Given the description of an element on the screen output the (x, y) to click on. 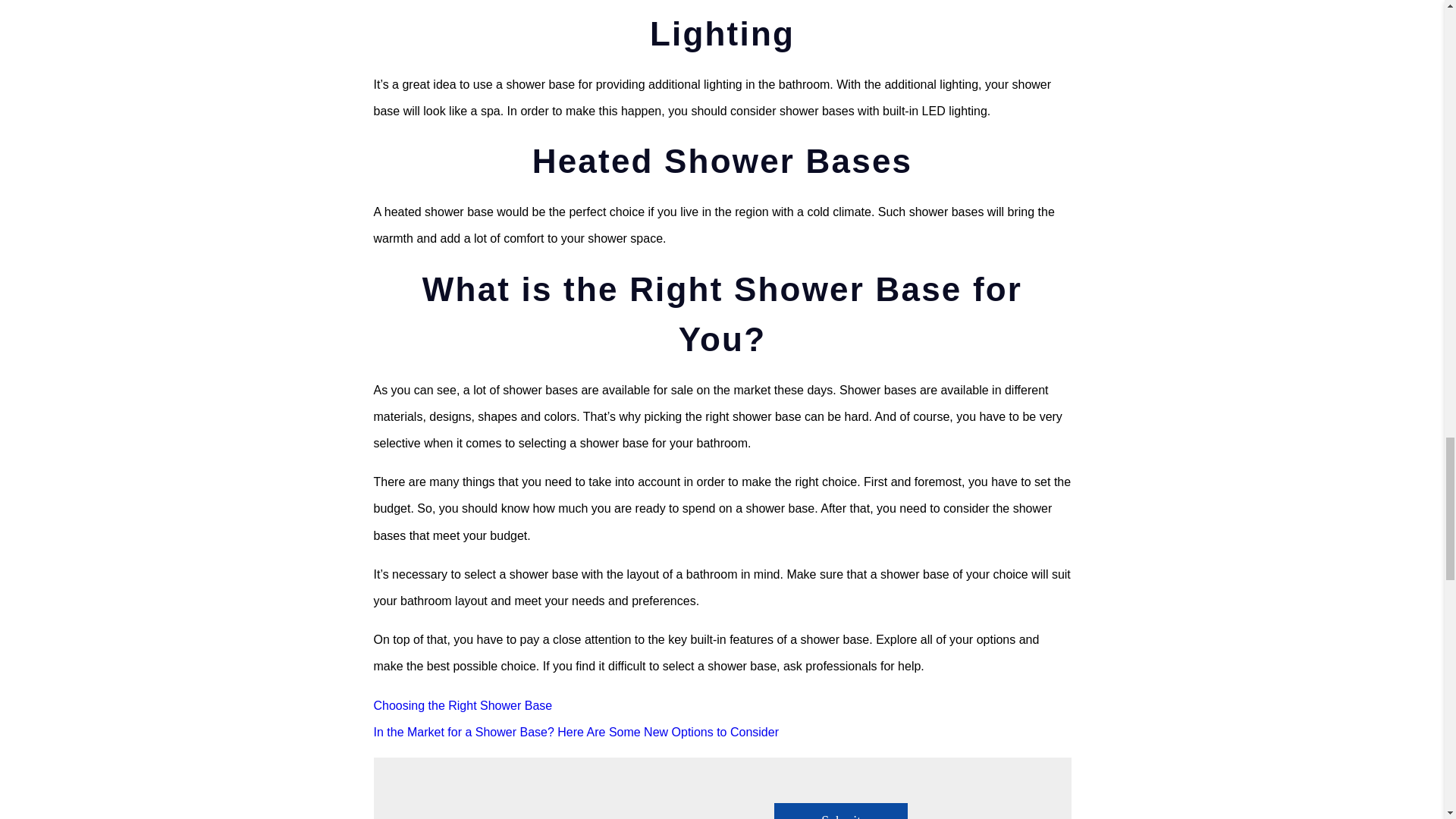
Submit (840, 811)
Choosing the Right Shower Base (461, 705)
